Given the description of an element on the screen output the (x, y) to click on. 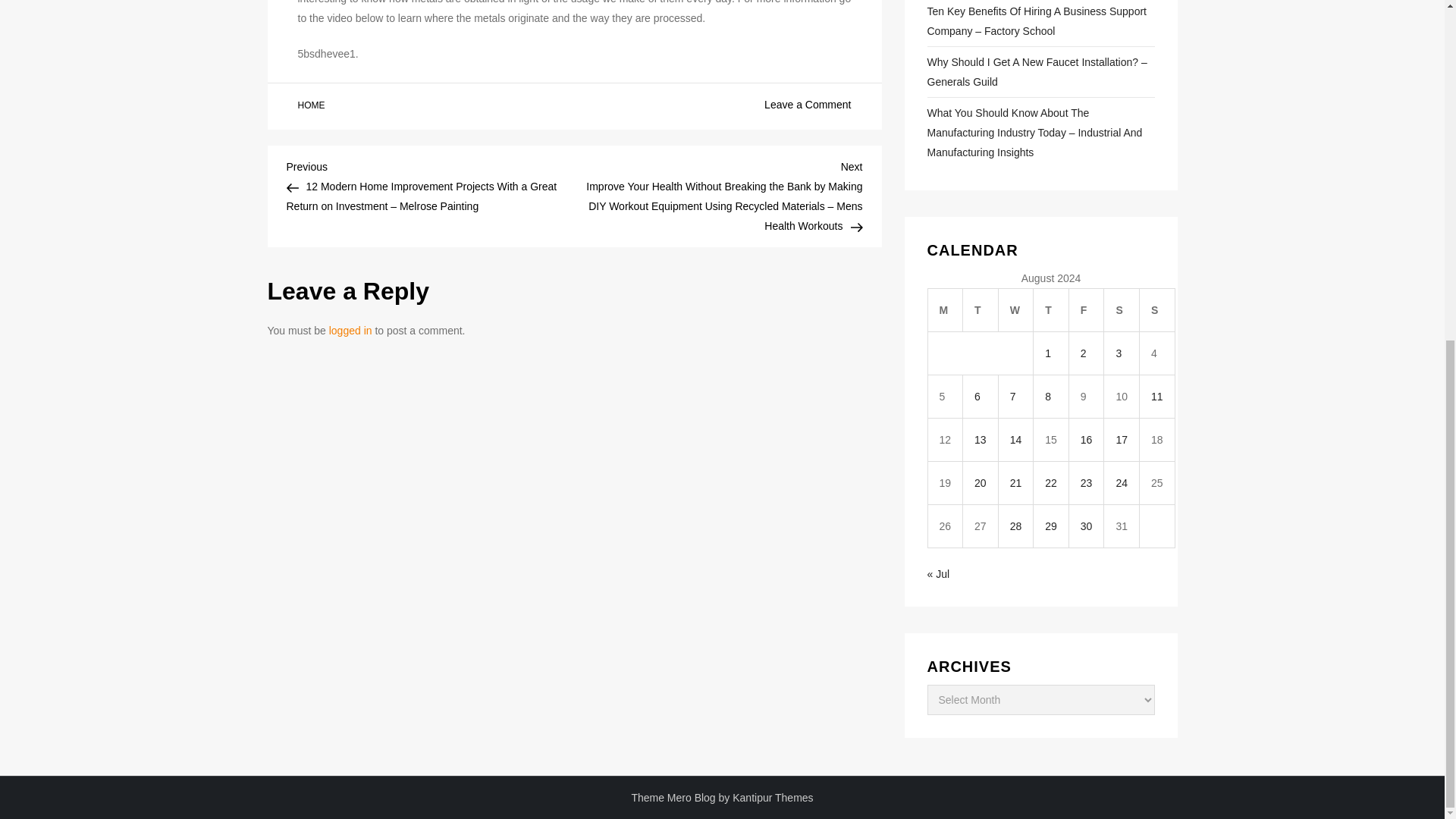
24 (1120, 482)
20 (980, 482)
11 (1157, 396)
14 (1016, 439)
22 (1051, 482)
17 (1120, 439)
HOME (310, 105)
21 (1016, 482)
logged in (350, 330)
23 (1086, 482)
